Given the description of an element on the screen output the (x, y) to click on. 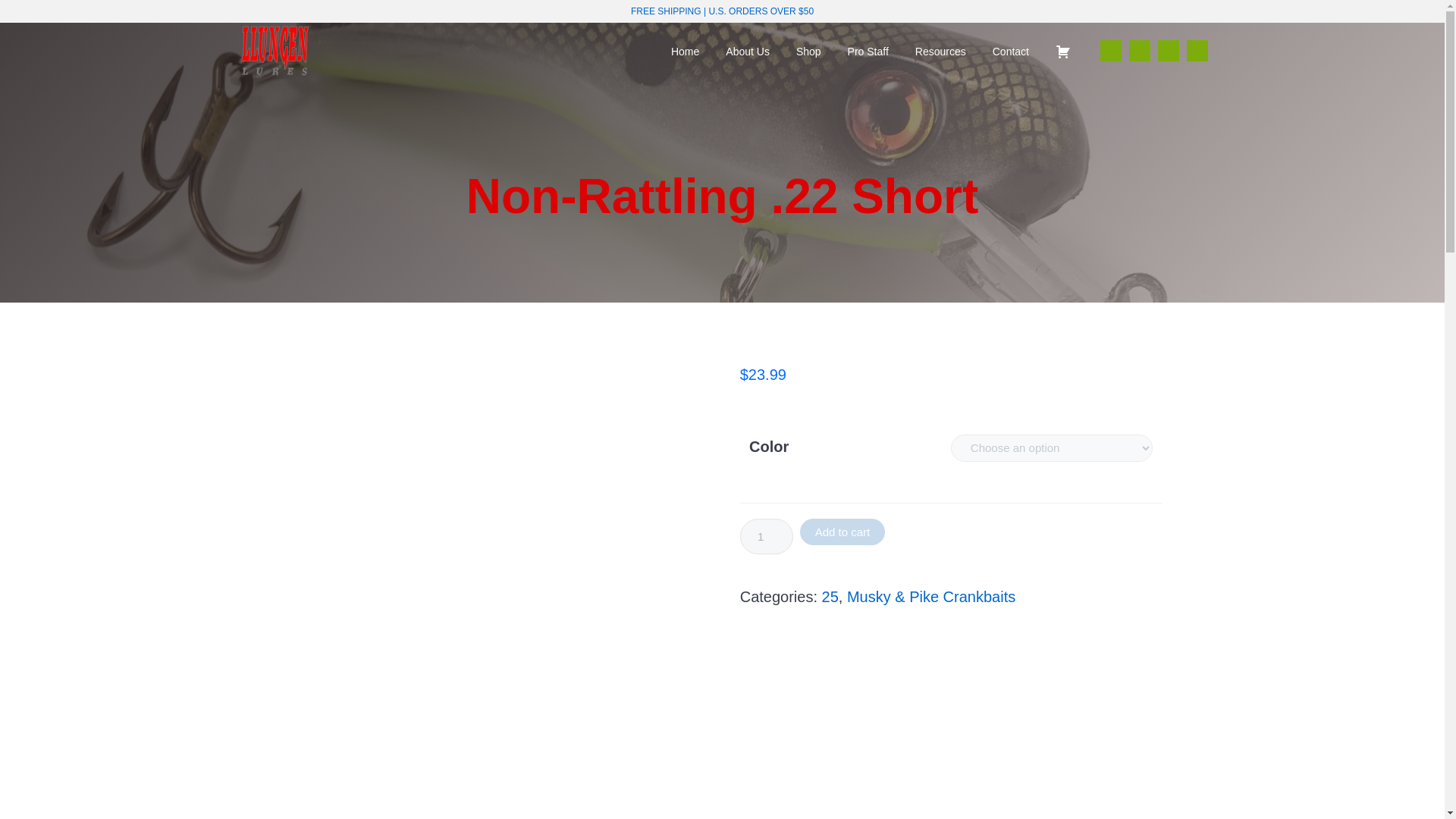
About Us (748, 51)
Pro Staff (867, 51)
Contact (1010, 51)
Add to cart (842, 531)
1 (766, 536)
Shop (808, 51)
Home (684, 51)
25 (830, 596)
Resources (939, 51)
